Given the description of an element on the screen output the (x, y) to click on. 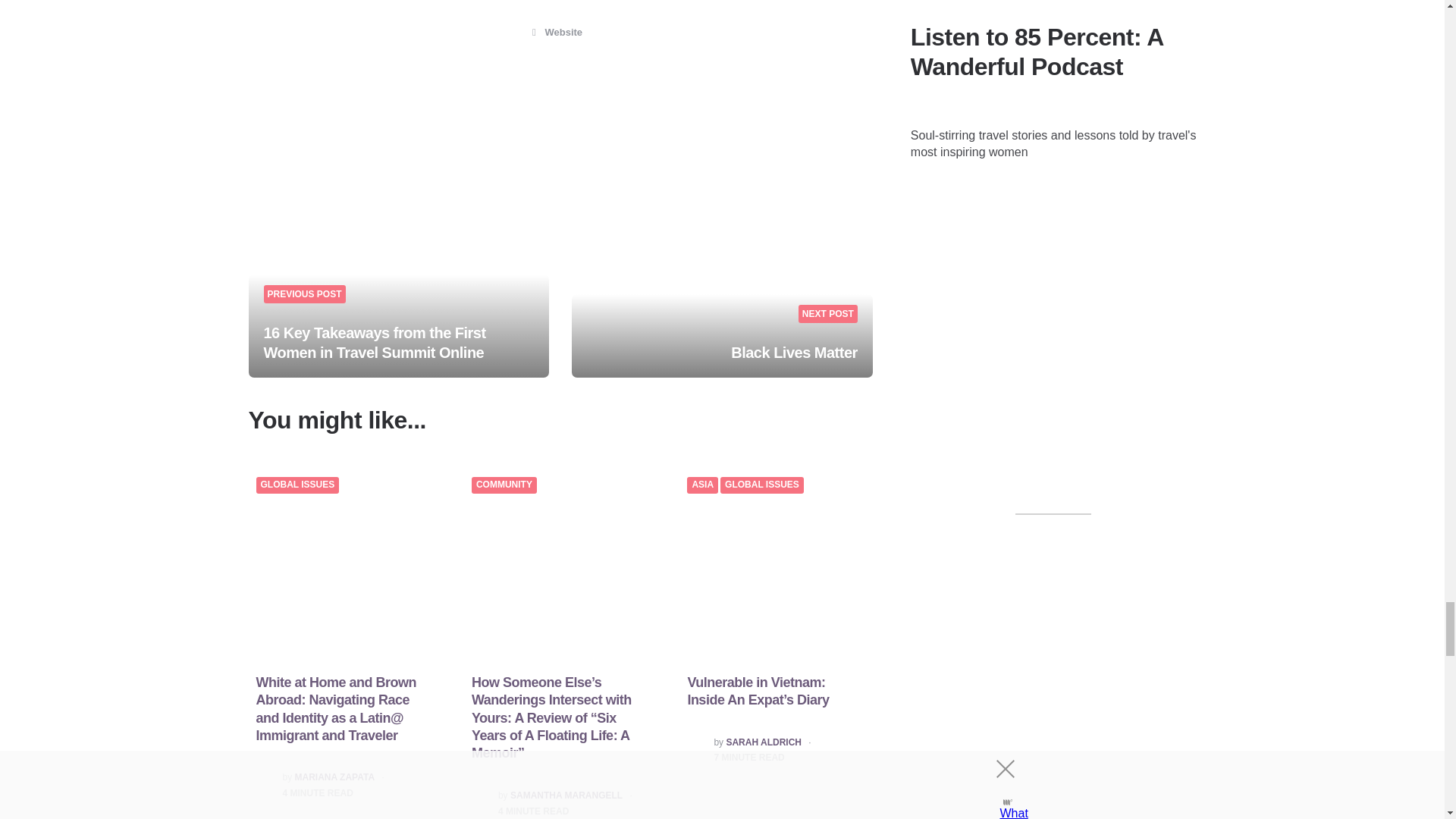
Website (560, 31)
